Given the description of an element on the screen output the (x, y) to click on. 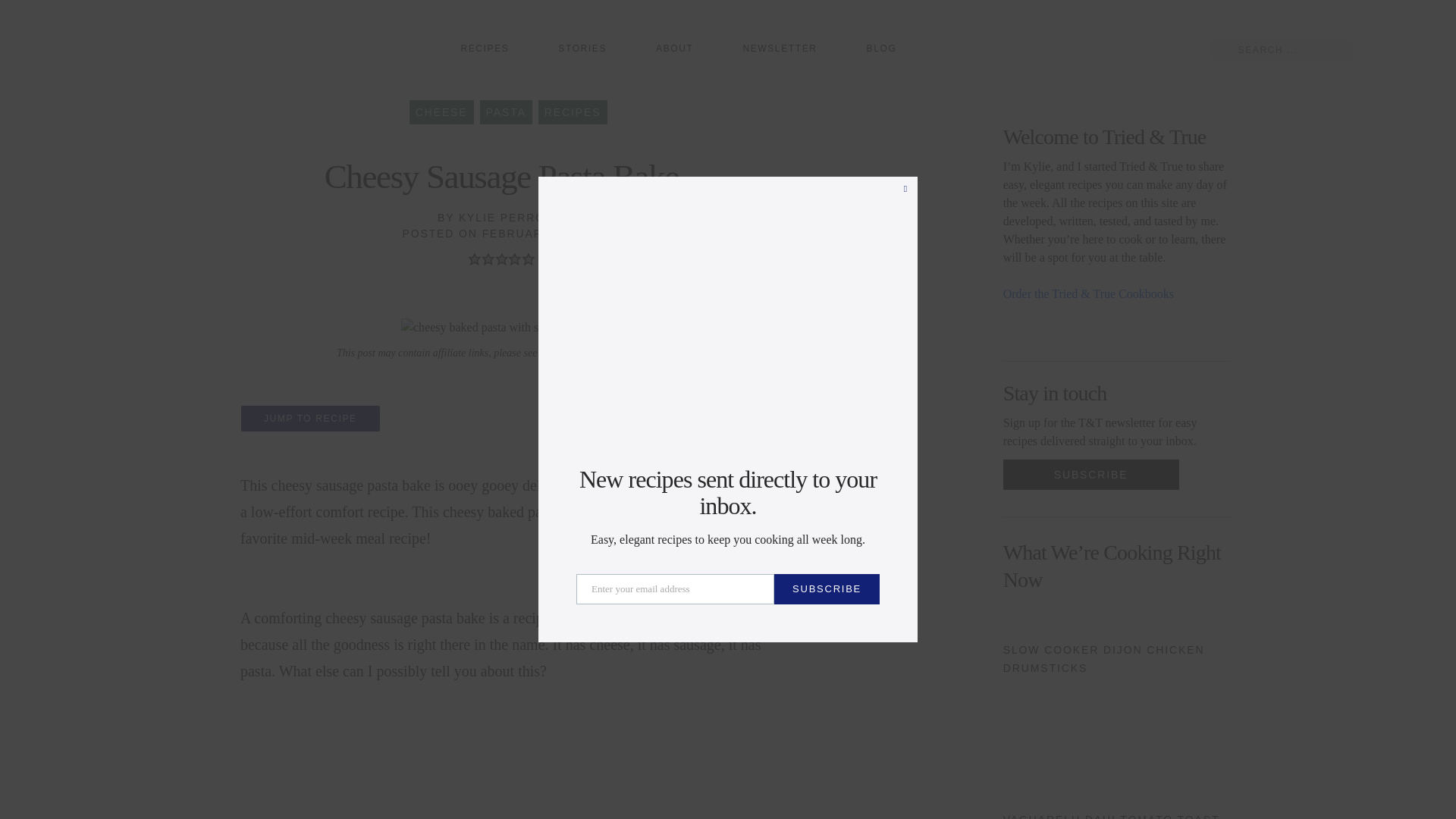
STORIES (582, 48)
RECIPES (484, 48)
JUMP TO RECIPE (310, 418)
BLOG (881, 48)
CHEESE (441, 111)
FEBRUARY 9, 2023 (541, 233)
KYLIE PERROTTI (512, 217)
NEWSLETTER (779, 48)
RECIPES (572, 111)
privacy policy (587, 352)
